Given the description of an element on the screen output the (x, y) to click on. 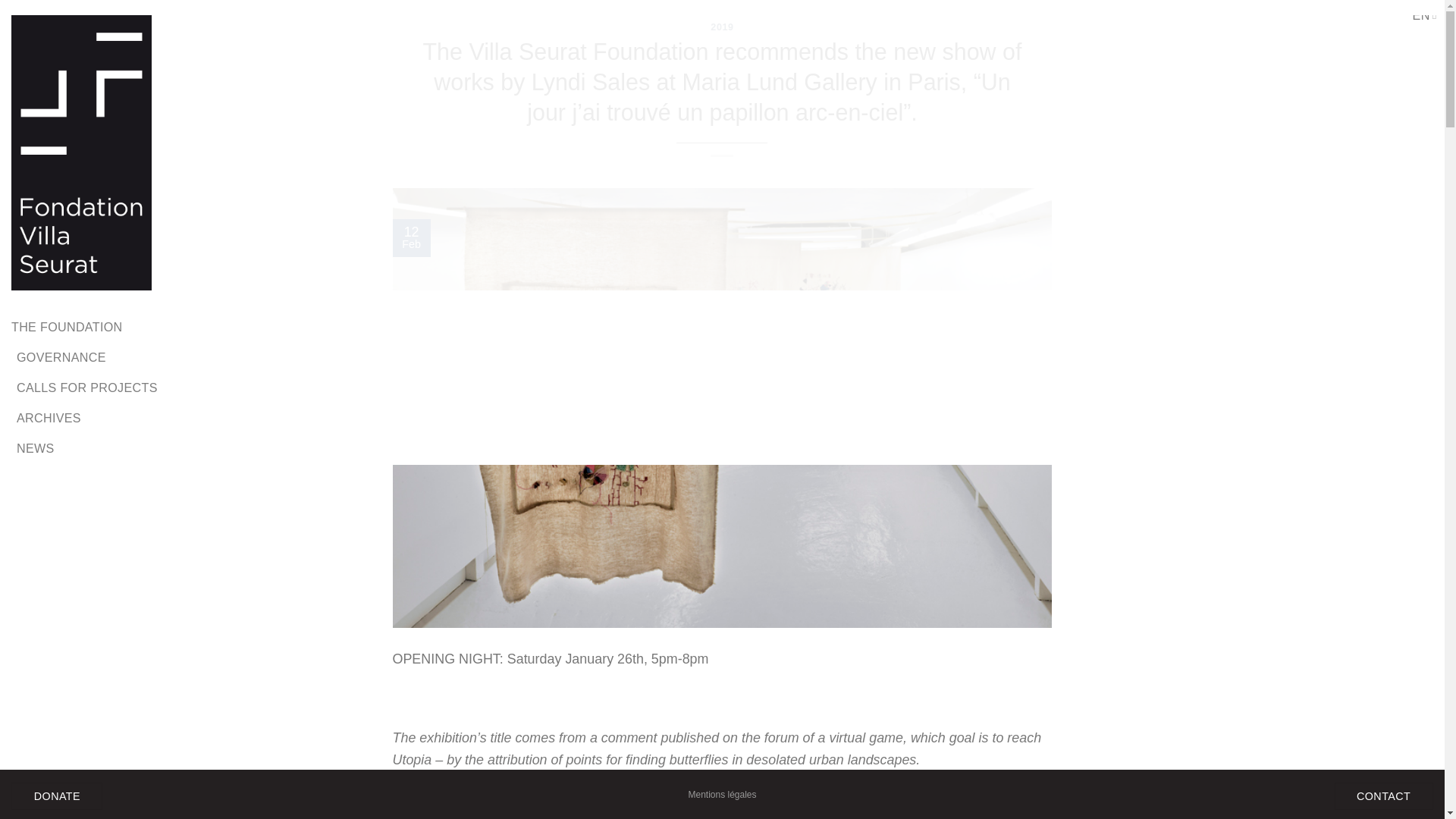
DONATE (56, 795)
CALLS FOR PROJECTS (86, 387)
CONTACT (1383, 795)
GOVERNANCE (61, 357)
ARCHIVES (48, 417)
2019 (721, 27)
NEWS (35, 447)
THE FOUNDATION (66, 326)
